Given the description of an element on the screen output the (x, y) to click on. 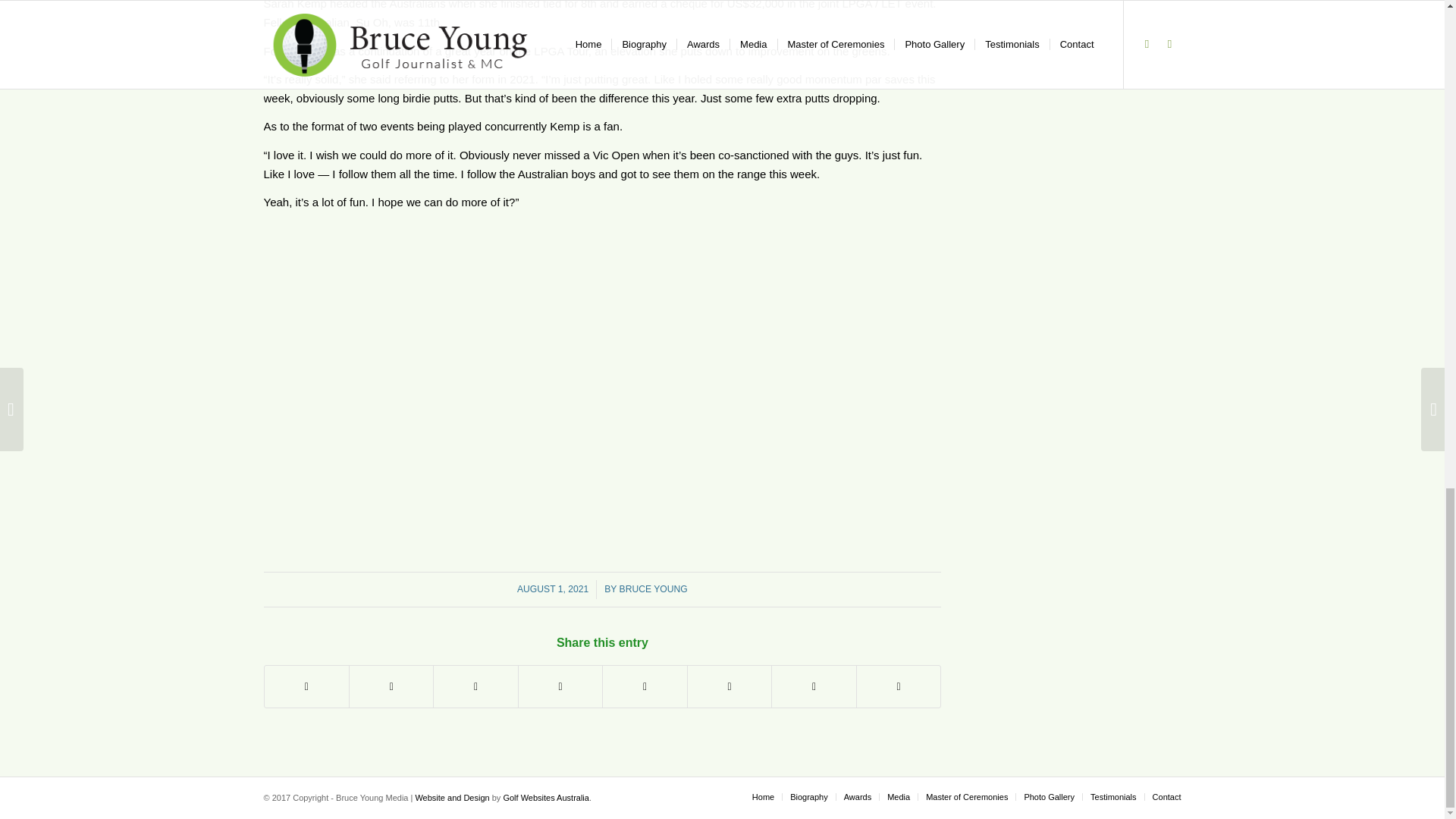
Golf Websites Australia (545, 797)
Website and Design (451, 797)
Posts by Bruce Young (653, 588)
BRUCE YOUNG (653, 588)
Home (763, 796)
